Given the description of an element on the screen output the (x, y) to click on. 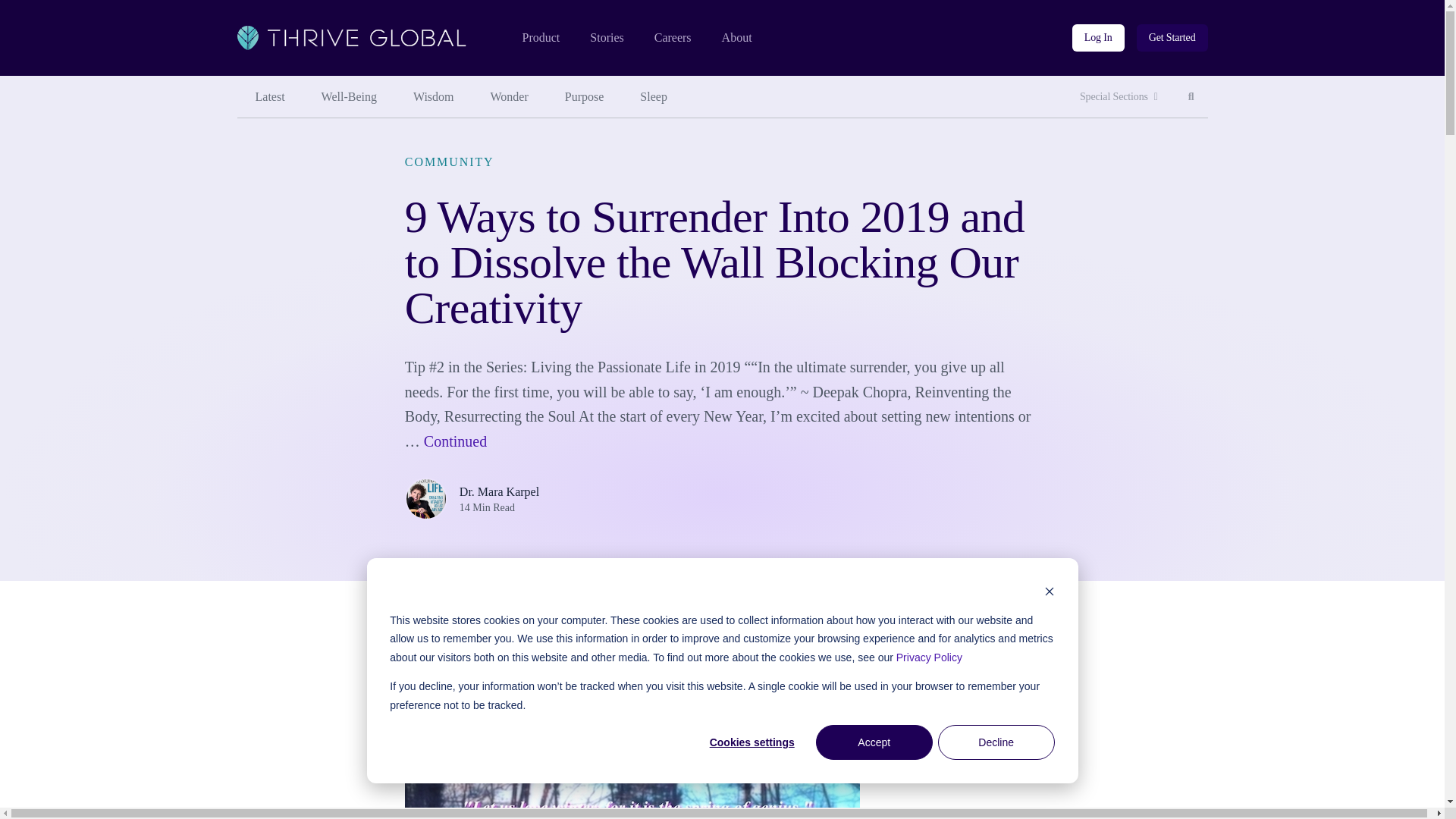
Wonder (509, 96)
Special Sections (1118, 97)
Latest (268, 96)
Purpose (585, 96)
Sleep (653, 96)
Careers (672, 37)
Product (540, 37)
Get Started (1191, 97)
Log In (1172, 37)
